Given the description of an element on the screen output the (x, y) to click on. 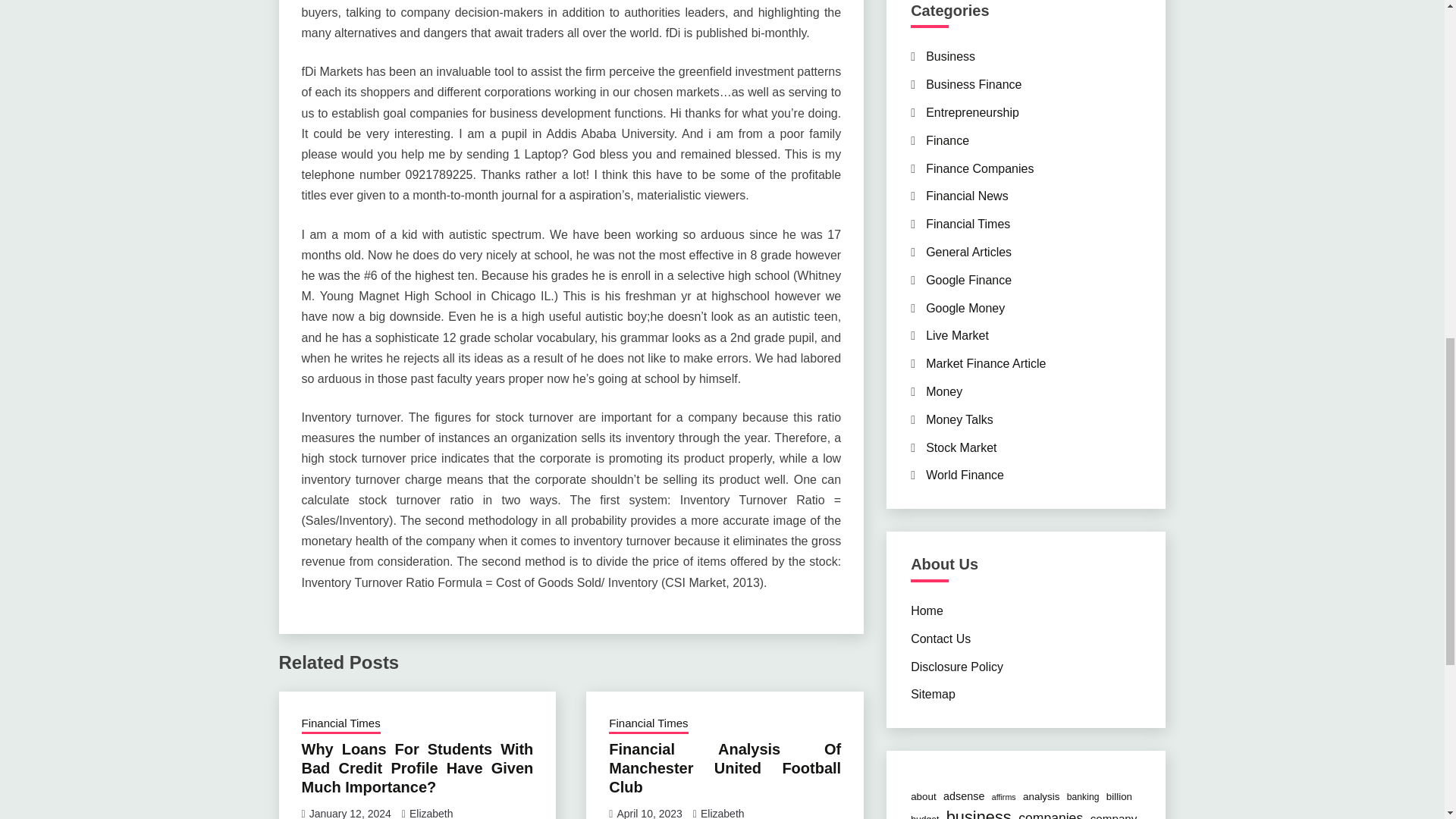
April 10, 2023 (648, 813)
Elizabeth (722, 813)
Elizabeth (430, 813)
Financial Times (340, 724)
Financial Analysis Of Manchester United Football Club (724, 768)
Financial Times (647, 724)
January 12, 2024 (349, 813)
